Given the description of an element on the screen output the (x, y) to click on. 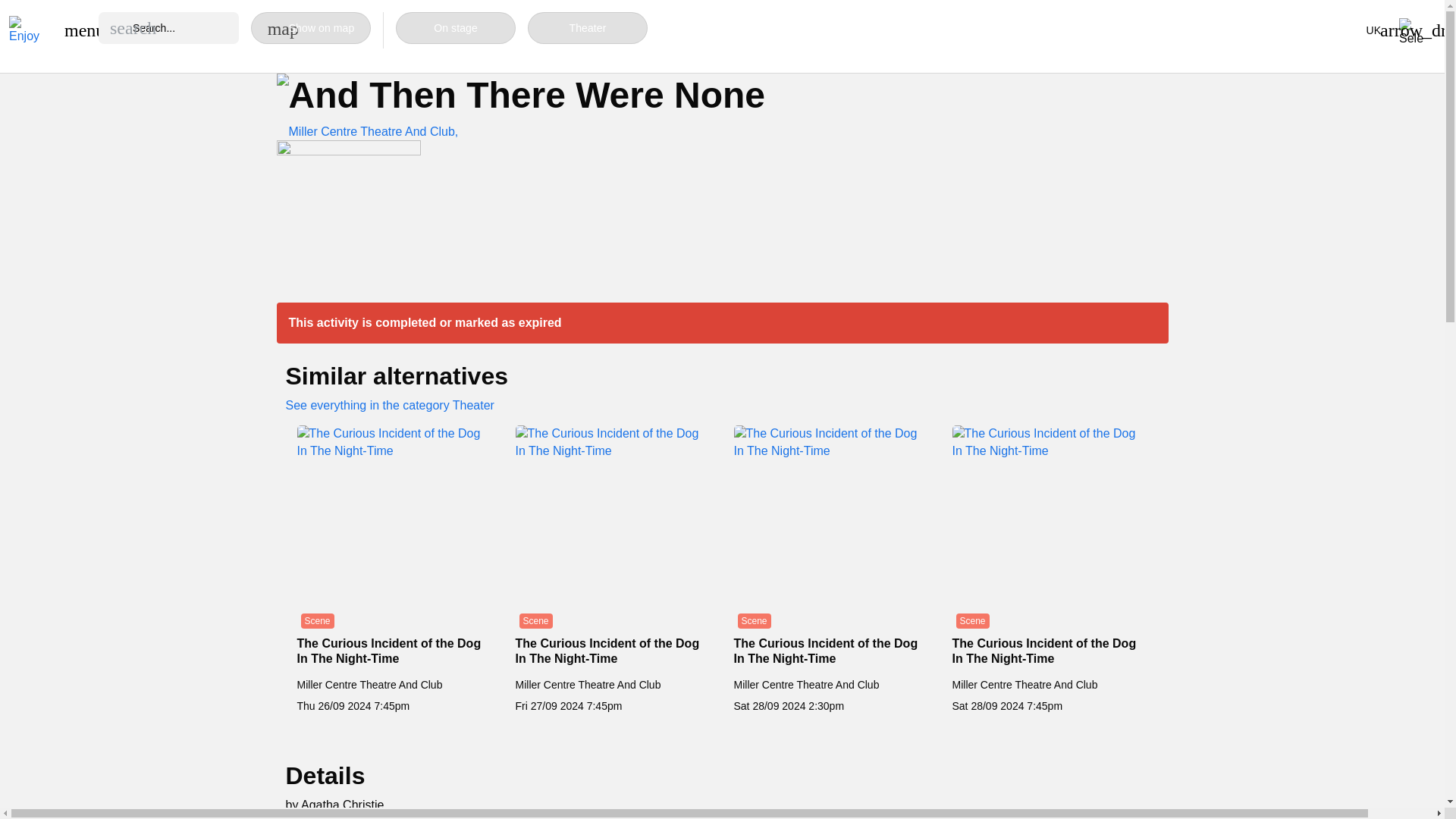
See everything in the category Theater (389, 404)
search (132, 26)
map Show on map (310, 28)
menu (76, 30)
Miller Centre Theatre And Club, (373, 131)
Theater (587, 28)
On stage (455, 28)
Show on google maps. (373, 131)
